Given the description of an element on the screen output the (x, y) to click on. 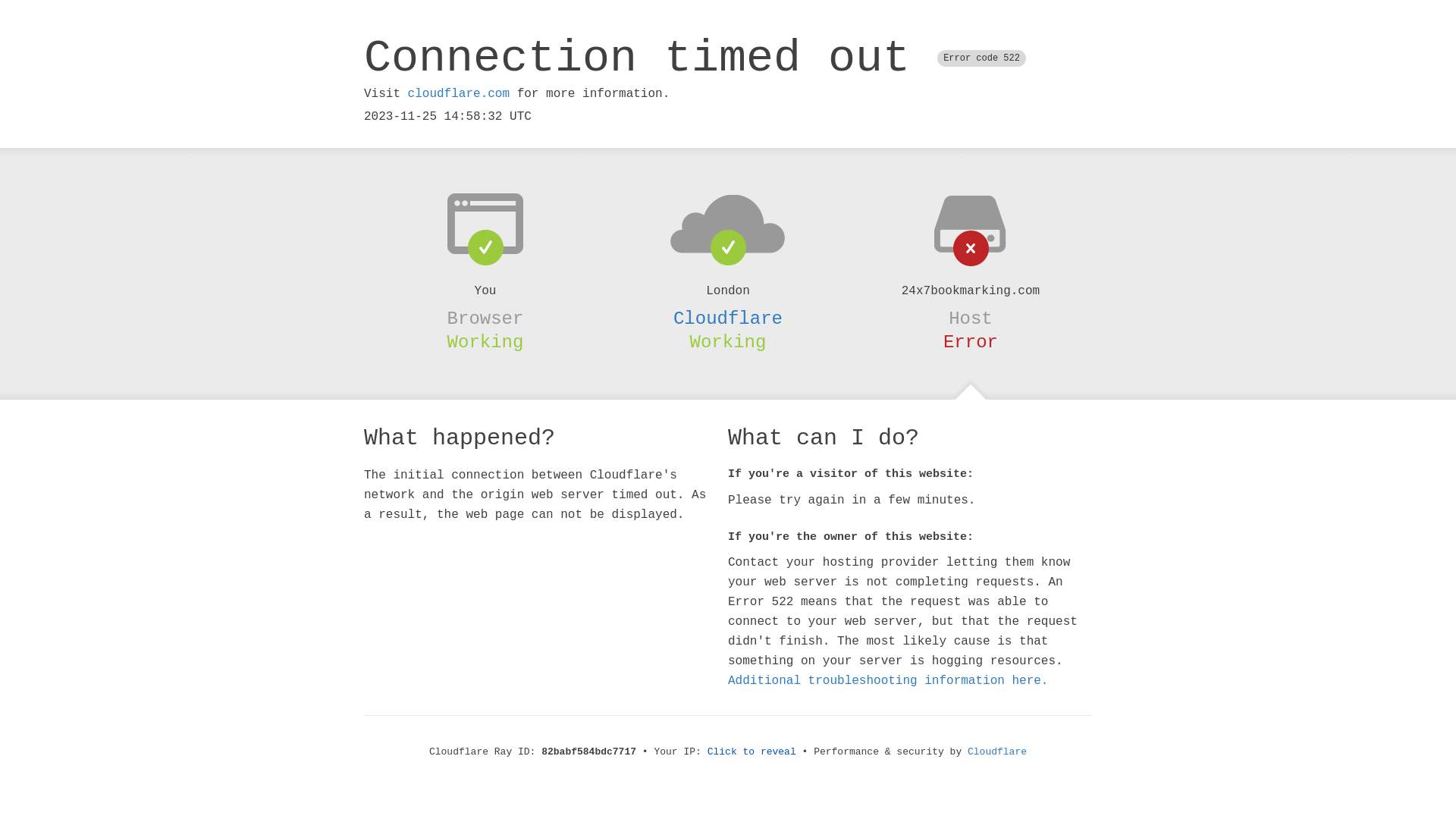
Click to reveal Element type: text (751, 751)
Additional troubleshooting information here. Element type: text (888, 680)
Cloudflare Element type: text (996, 751)
cloudflare.com Element type: text (458, 93)
Cloudflare Element type: text (727, 318)
